Given the description of an element on the screen output the (x, y) to click on. 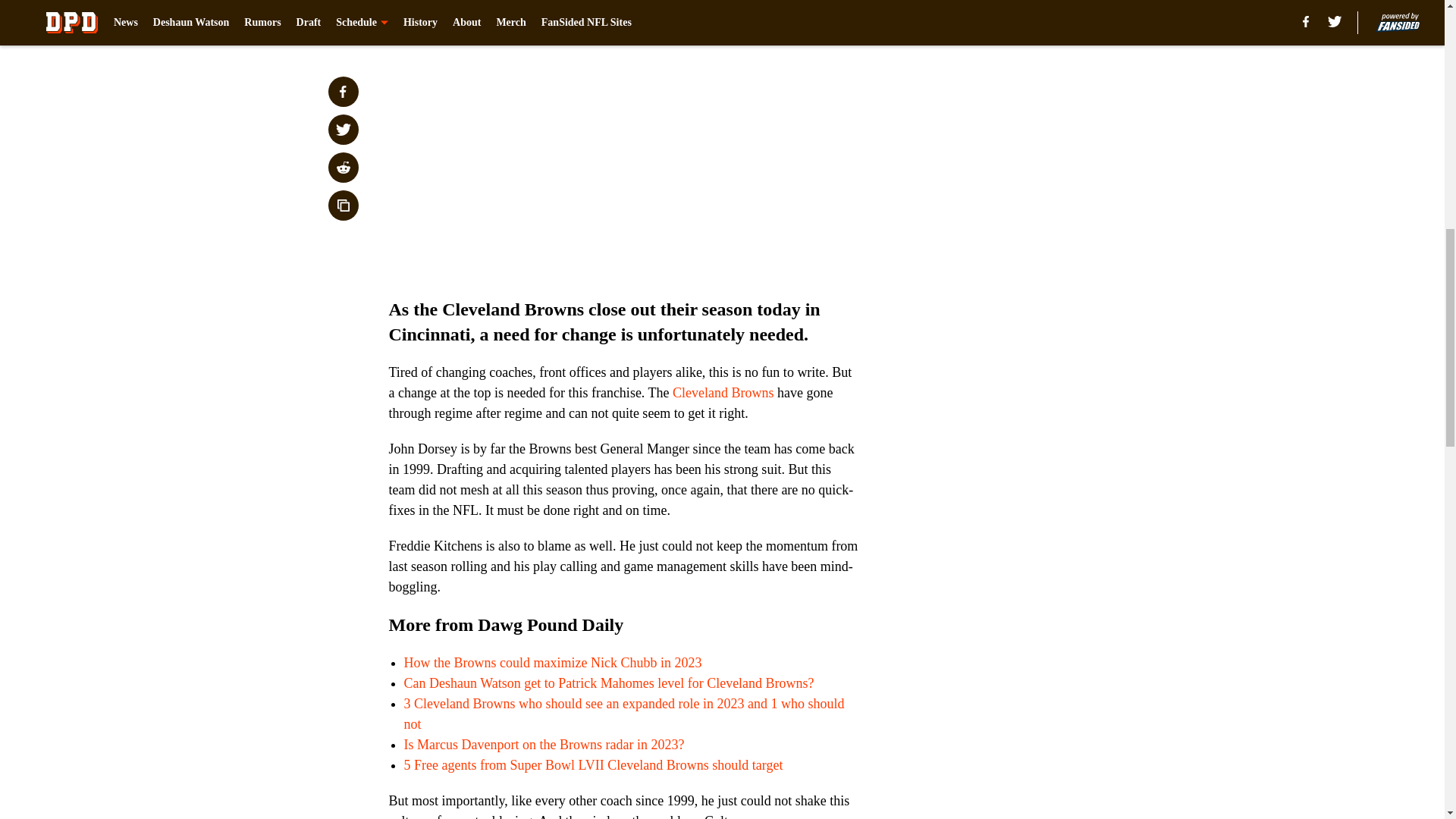
Cleveland Browns (722, 392)
How the Browns could maximize Nick Chubb in 2023 (552, 662)
Is Marcus Davenport on the Browns radar in 2023? (543, 744)
